Given the description of an element on the screen output the (x, y) to click on. 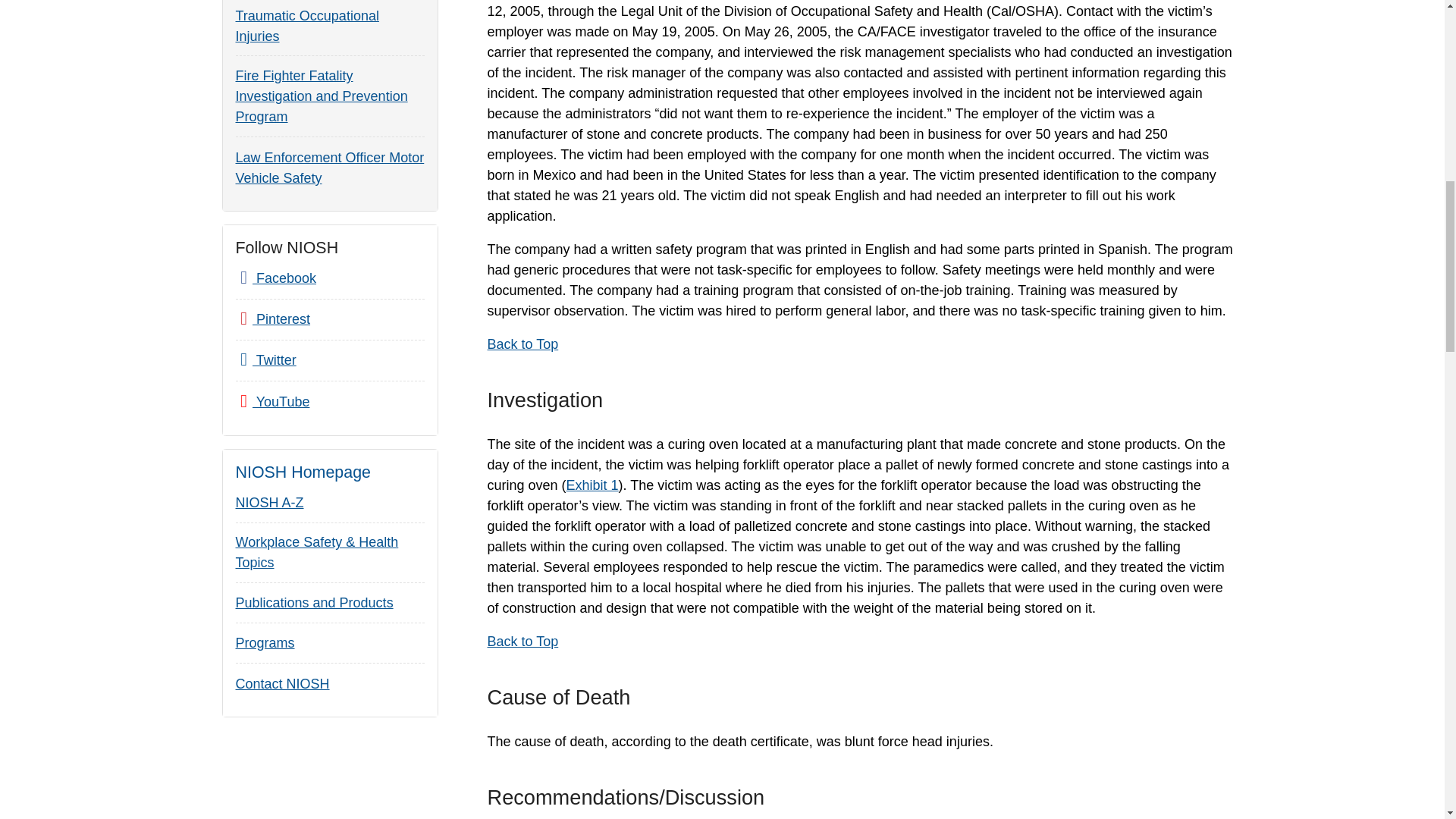
Exhibit 1 (592, 485)
Back to Top (521, 344)
Back to Top (521, 641)
